Given the description of an element on the screen output the (x, y) to click on. 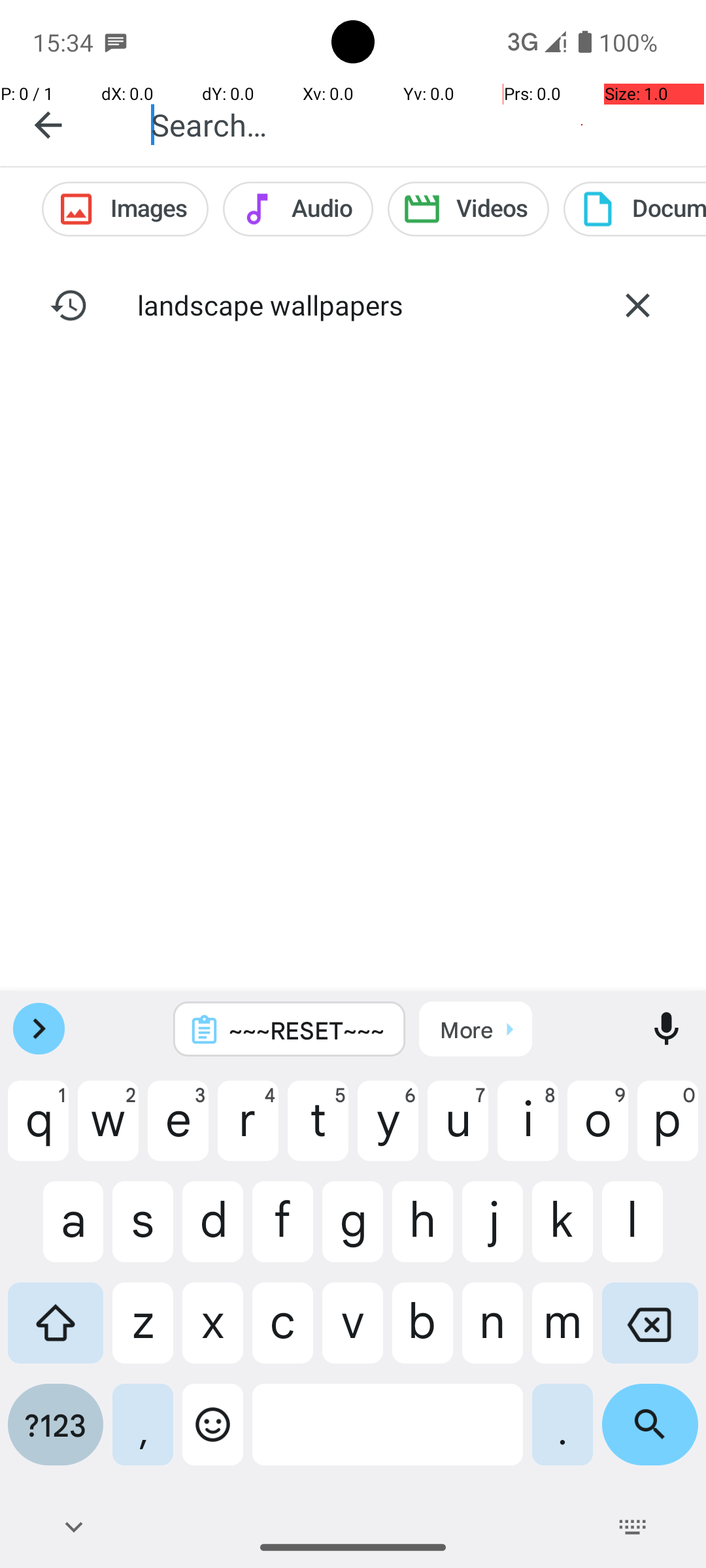
Search… Element type: android.widget.AutoCompleteTextView (414, 124)
landscape wallpapers Element type: android.widget.TextView (352, 304)
Delete search history landscape wallpapers Element type: android.widget.ImageView (637, 304)
Click to open Clipboard Element type: android.view.ViewGroup (475, 1028)
~~~RESET~~~ Element type: android.widget.TextView (306, 1029)
